Given the description of an element on the screen output the (x, y) to click on. 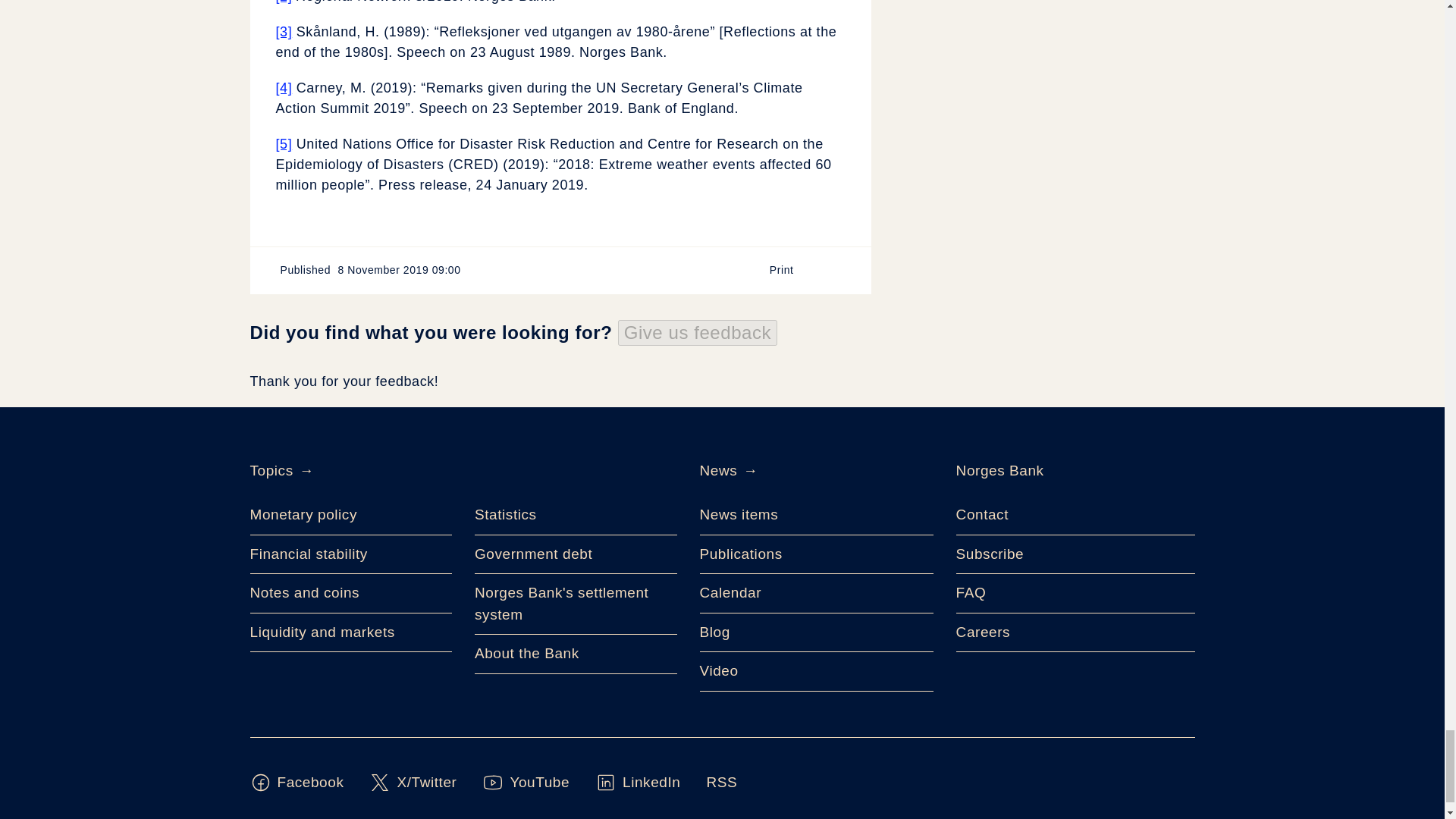
Financial stability (351, 554)
Statistics (575, 515)
Topics (272, 470)
Liquidity and markets (351, 632)
Give us feedback (697, 332)
Government debt (575, 554)
News (717, 470)
About the Bank (575, 654)
Norges Bank's settlement system (575, 604)
Print (788, 270)
